Given the description of an element on the screen output the (x, y) to click on. 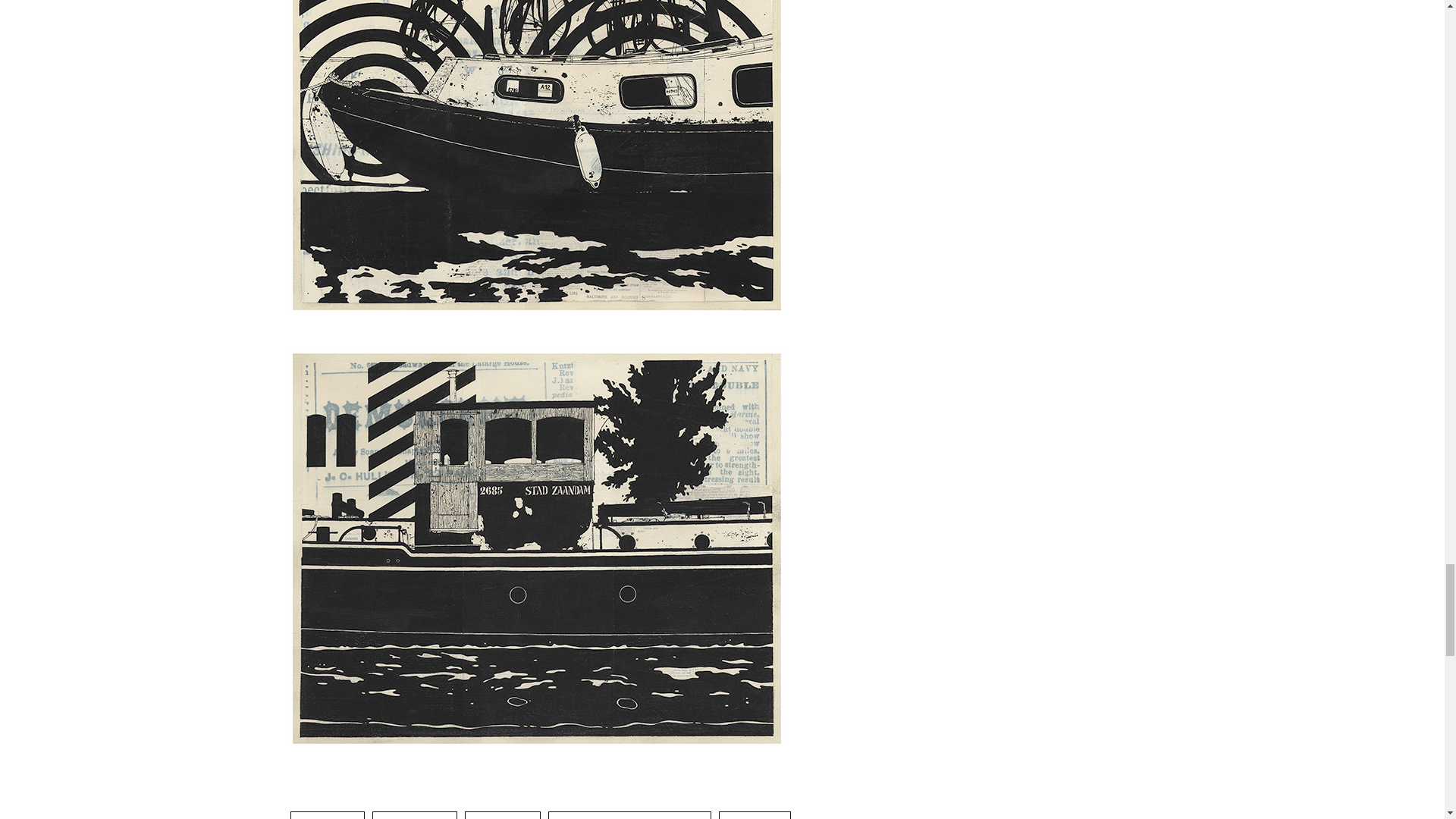
MAKERVERSITY AMERSTERDAM (629, 815)
DREW LESHKO (414, 815)
EVAN HECOX (502, 815)
SCULPTURE (754, 815)
AMSTERDAM (327, 815)
